Given the description of an element on the screen output the (x, y) to click on. 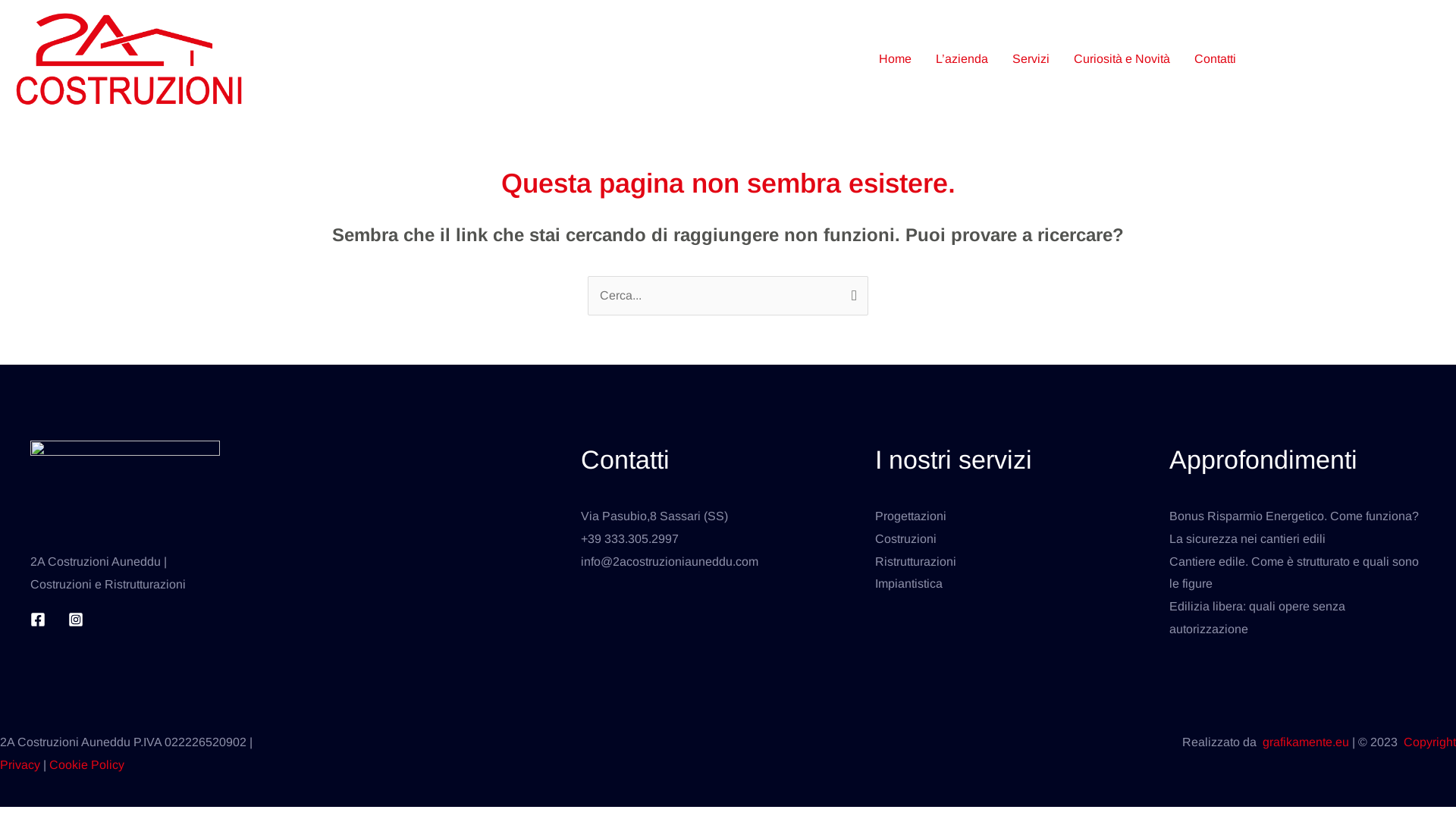
Ristrutturazioni Element type: text (915, 561)
+39 333.305.2997 Element type: text (629, 538)
La sicurezza nei cantieri edili Element type: text (1247, 538)
Home Element type: text (894, 58)
Servizi Element type: text (1030, 58)
Progettazioni Element type: text (910, 515)
Via Pasubio,8 Sassari (SS) Element type: text (654, 515)
Contatti Element type: text (1215, 58)
Bonus Risparmio Energetico. Come funziona? Element type: text (1293, 515)
Costruzioni Element type: text (905, 538)
Edilizia libera: quali opere senza autorizzazione Element type: text (1257, 617)
grafikamente.eu Element type: text (1305, 741)
Cookie Policy Element type: text (85, 764)
info@2acostruzioniauneddu.com Element type: text (669, 561)
Cerca Element type: text (851, 291)
Privacy Element type: text (21, 764)
Impiantistica Element type: text (908, 583)
Richiedi un preventivo Element type: text (1351, 59)
